Given the description of an element on the screen output the (x, y) to click on. 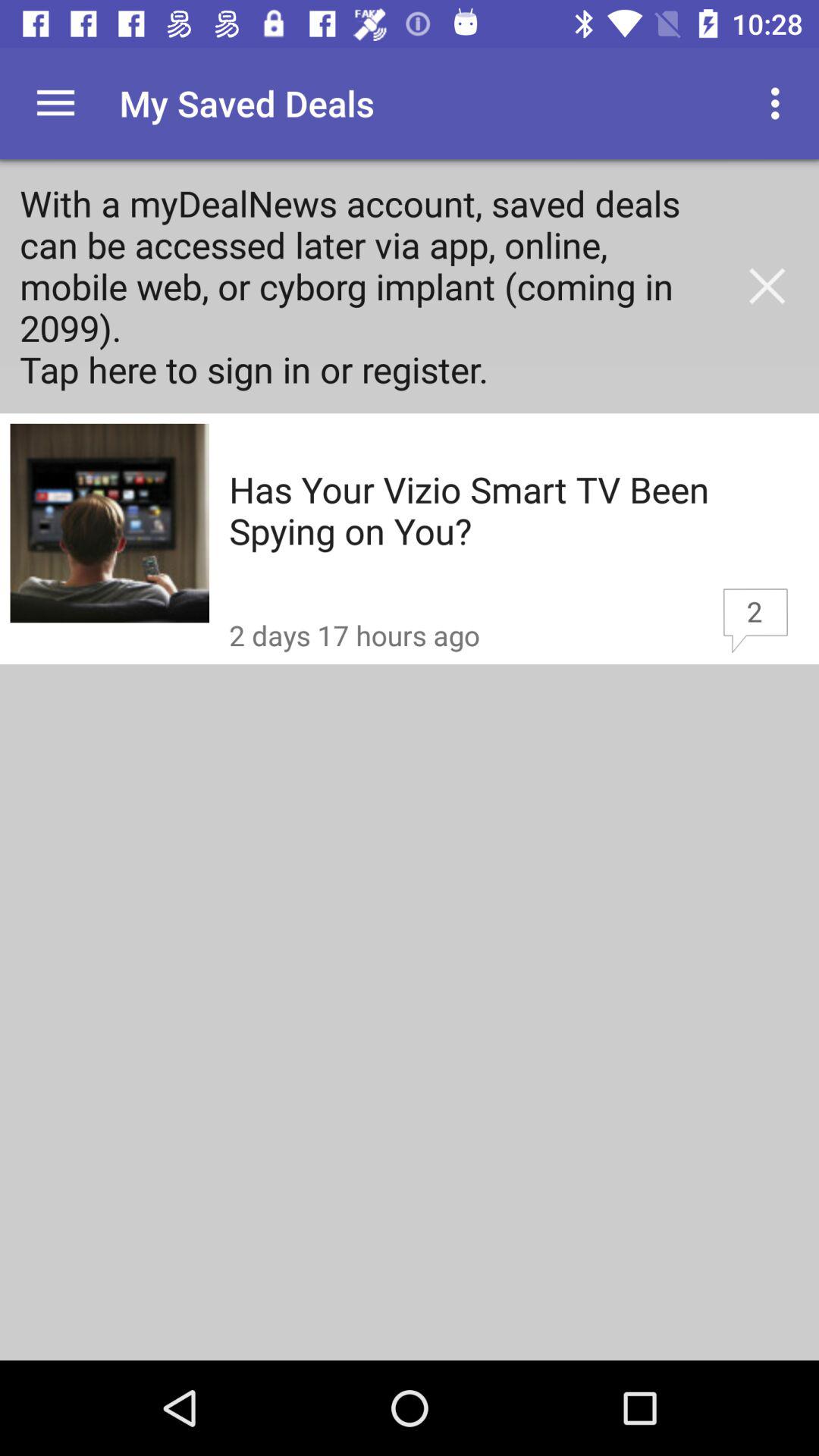
view the menu (55, 103)
